Given the description of an element on the screen output the (x, y) to click on. 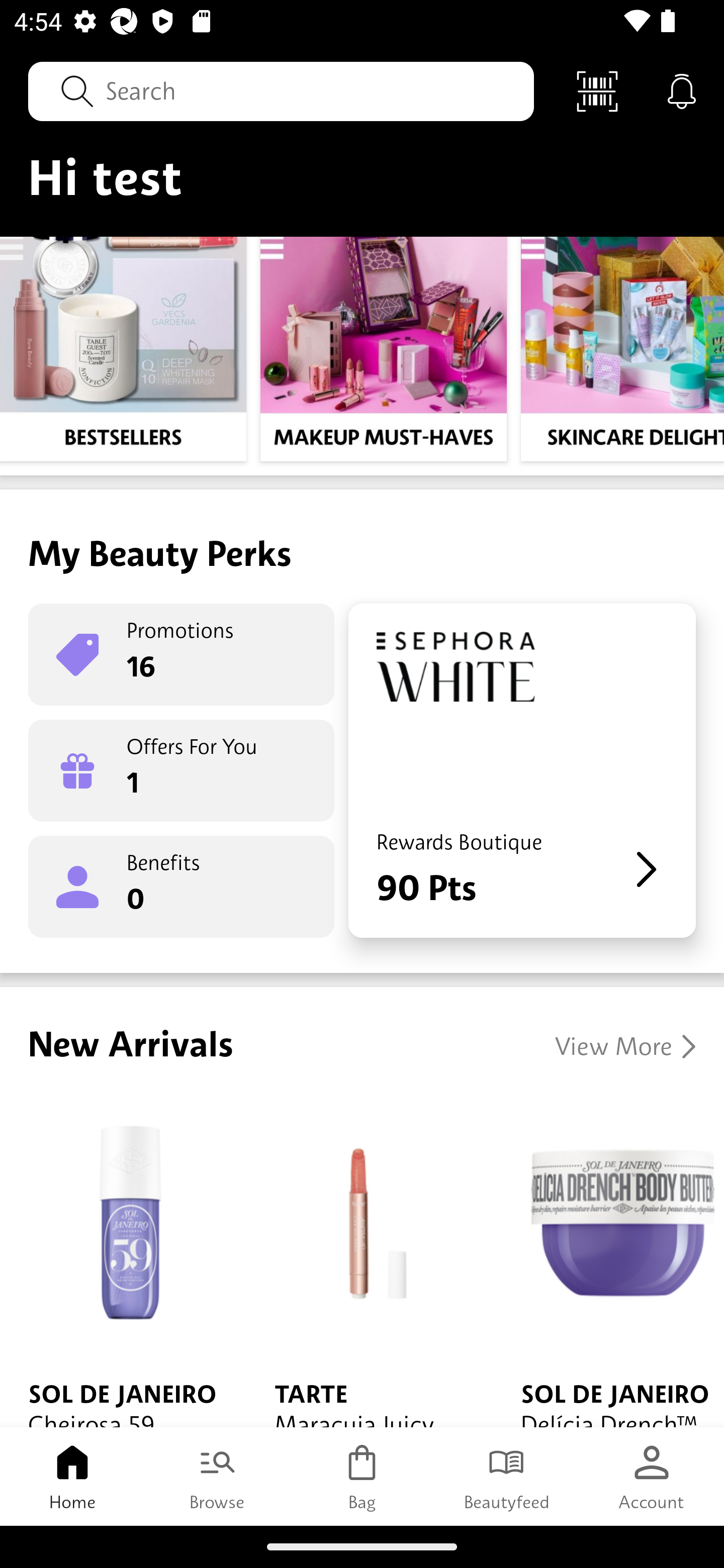
Scan Code (597, 90)
Notifications (681, 90)
Search (281, 90)
Promotions 16 (181, 654)
Rewards Boutique 90 Pts (521, 770)
Offers For You 1 (181, 770)
Benefits 0 (181, 886)
View More (625, 1046)
SOL DE JANEIRO Cheirosa 59 Perfume Mist (123, 1260)
TARTE Maracuja Juicy Shimmer Glass Lip Plump (369, 1260)
SOL DE JANEIRO Delícia Drench™ Body Butter (608, 1260)
Browse (216, 1475)
Bag (361, 1475)
Beautyfeed (506, 1475)
Account (651, 1475)
